Given the description of an element on the screen output the (x, y) to click on. 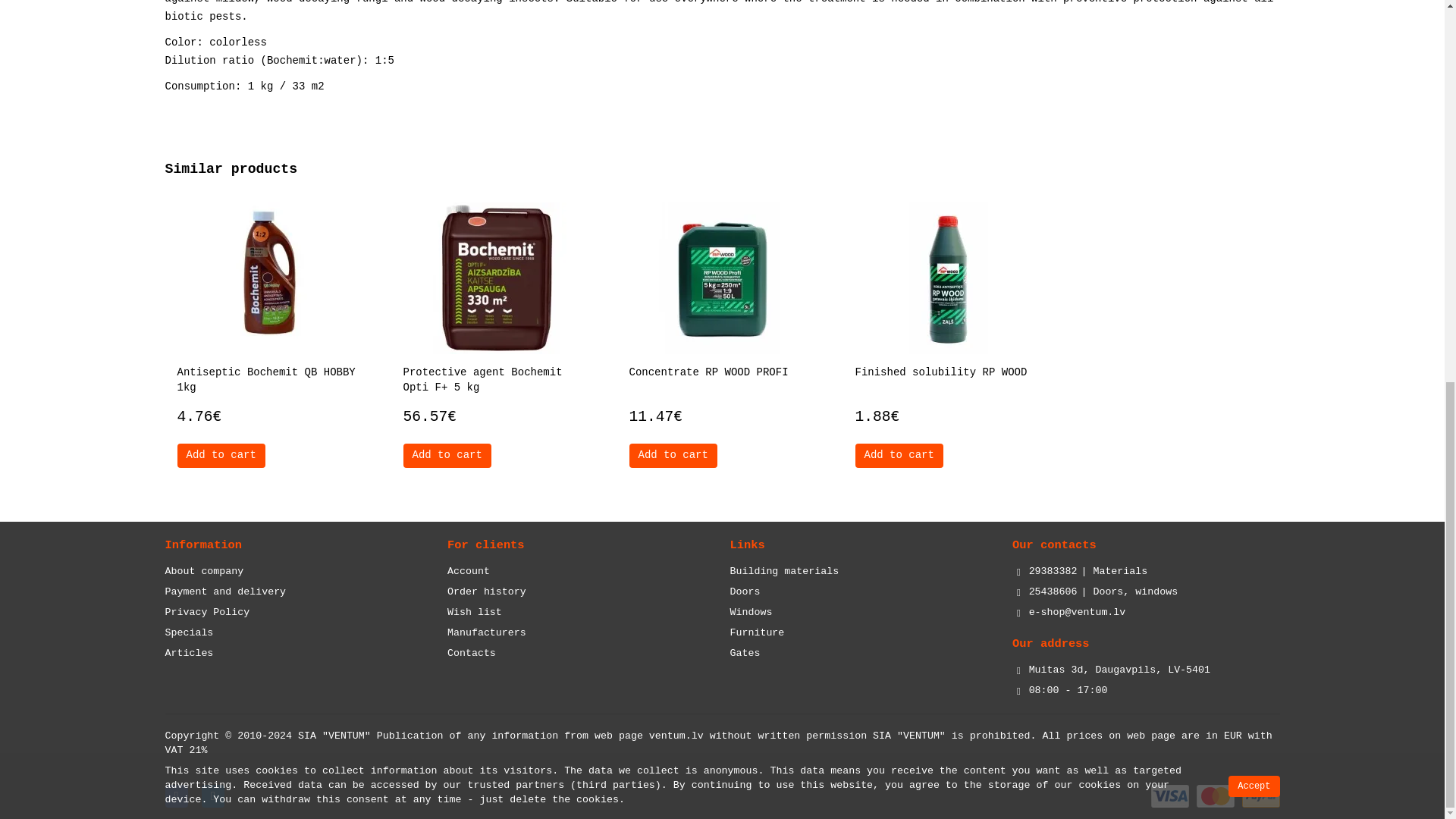
Antiseptic Bochemit QB HOBBY 1kg (269, 277)
Add to cart (220, 455)
Add to cart (447, 455)
